Given the description of an element on the screen output the (x, y) to click on. 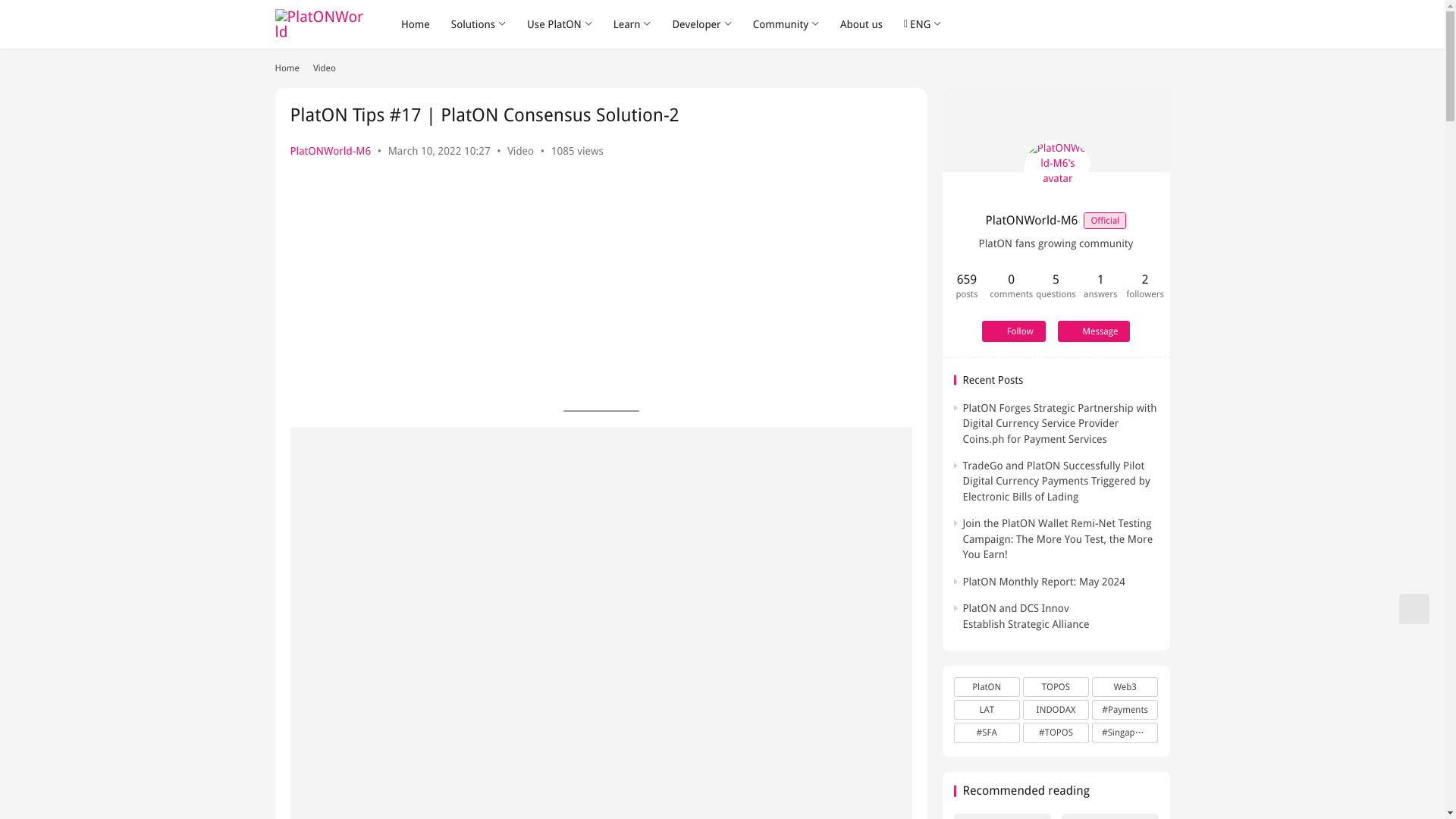
Home (415, 24)
Learn (632, 24)
Solutions (478, 24)
Community (785, 24)
Use PlatON (559, 24)
Developer (701, 24)
